Given the description of an element on the screen output the (x, y) to click on. 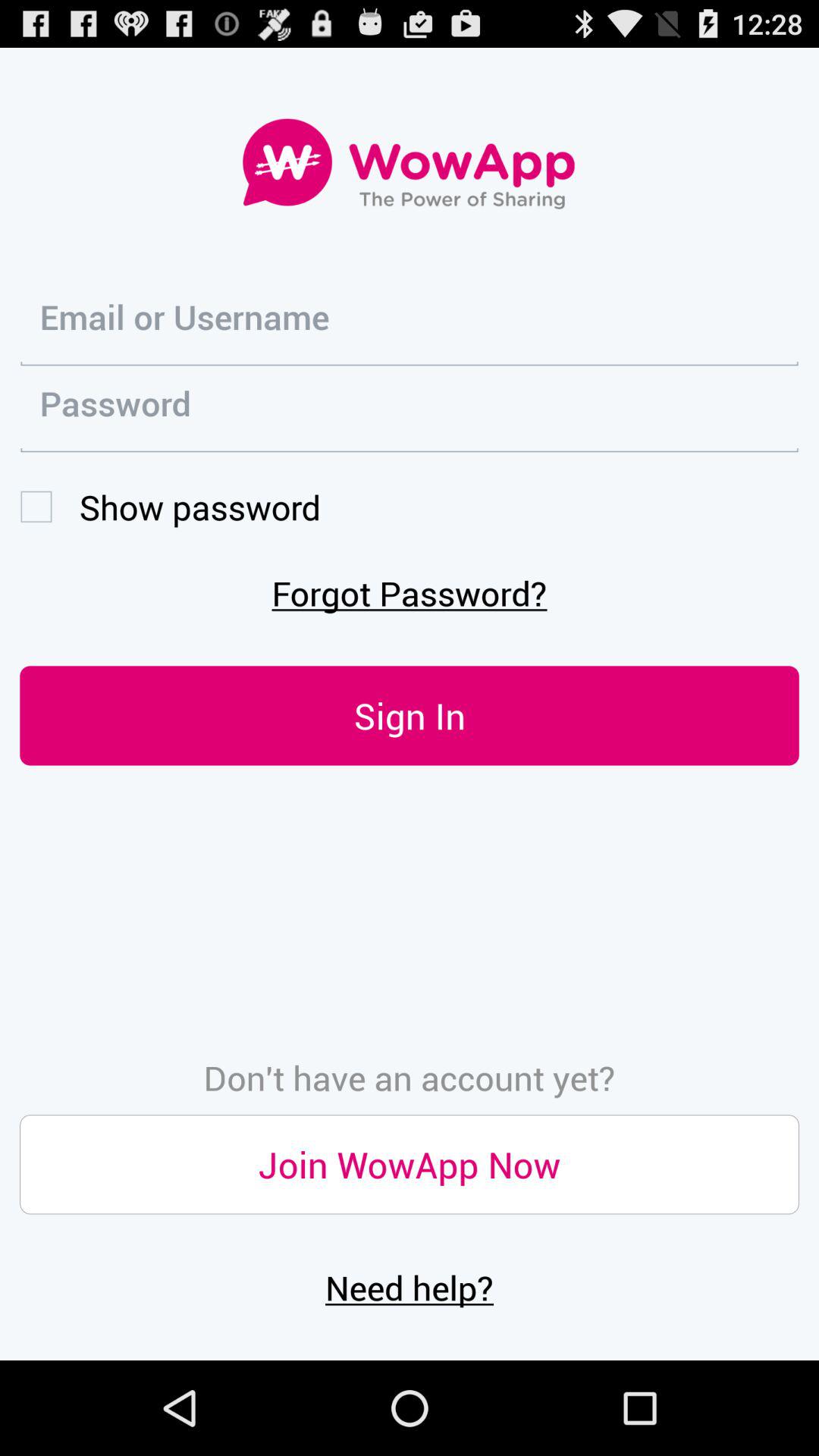
turn on the join wowapp now item (409, 1164)
